Given the description of an element on the screen output the (x, y) to click on. 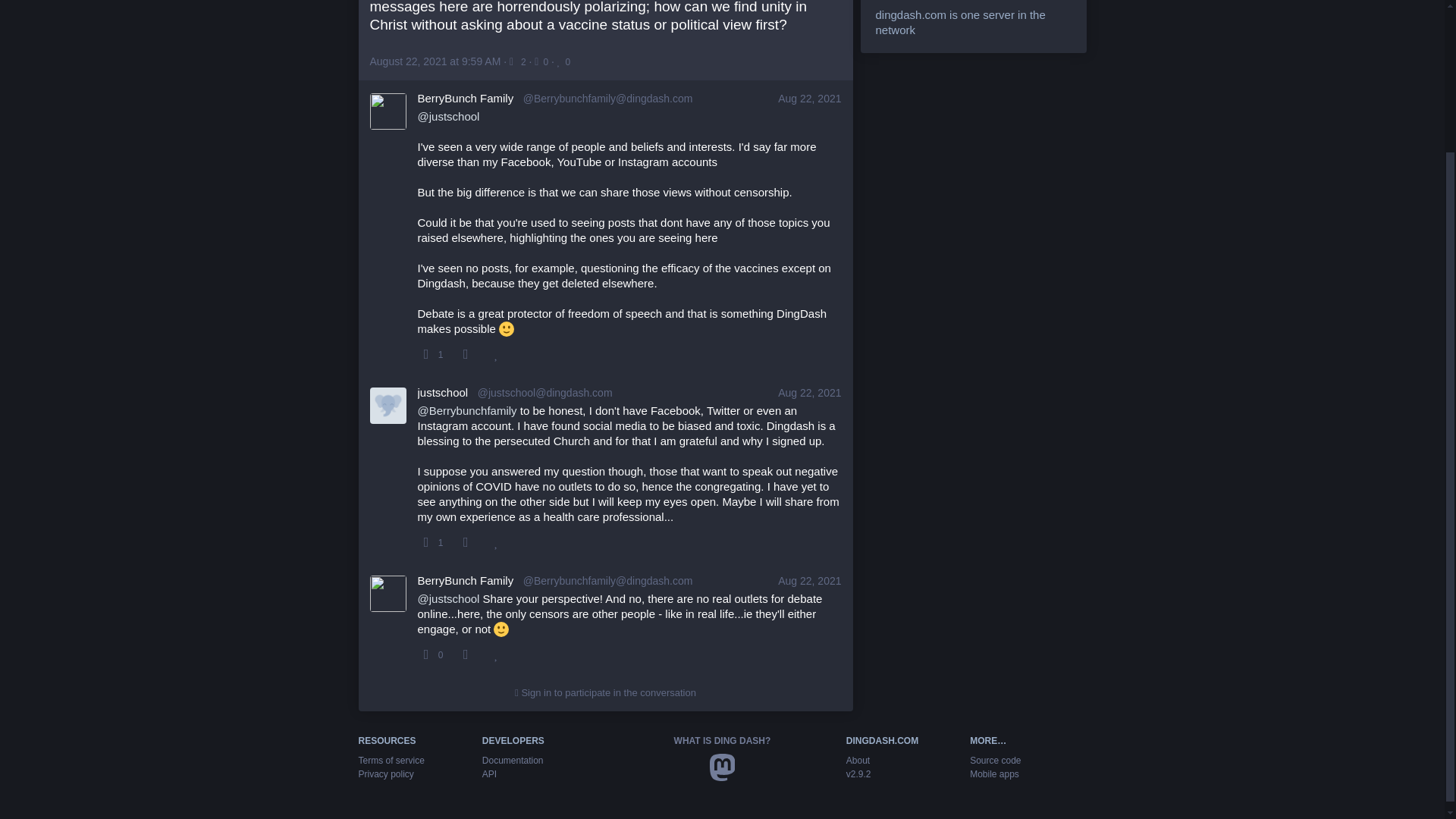
WHAT IS DING DASH? (722, 740)
Terms of service (390, 760)
Mobile apps (994, 774)
Privacy policy (385, 774)
Documentation (512, 760)
August 22, 2021 at 9:59 AM (434, 61)
API (488, 774)
0 (542, 61)
August 22, 2021 at 10:44 PM (809, 580)
Aug 22, 2021 (809, 581)
